Given the description of an element on the screen output the (x, y) to click on. 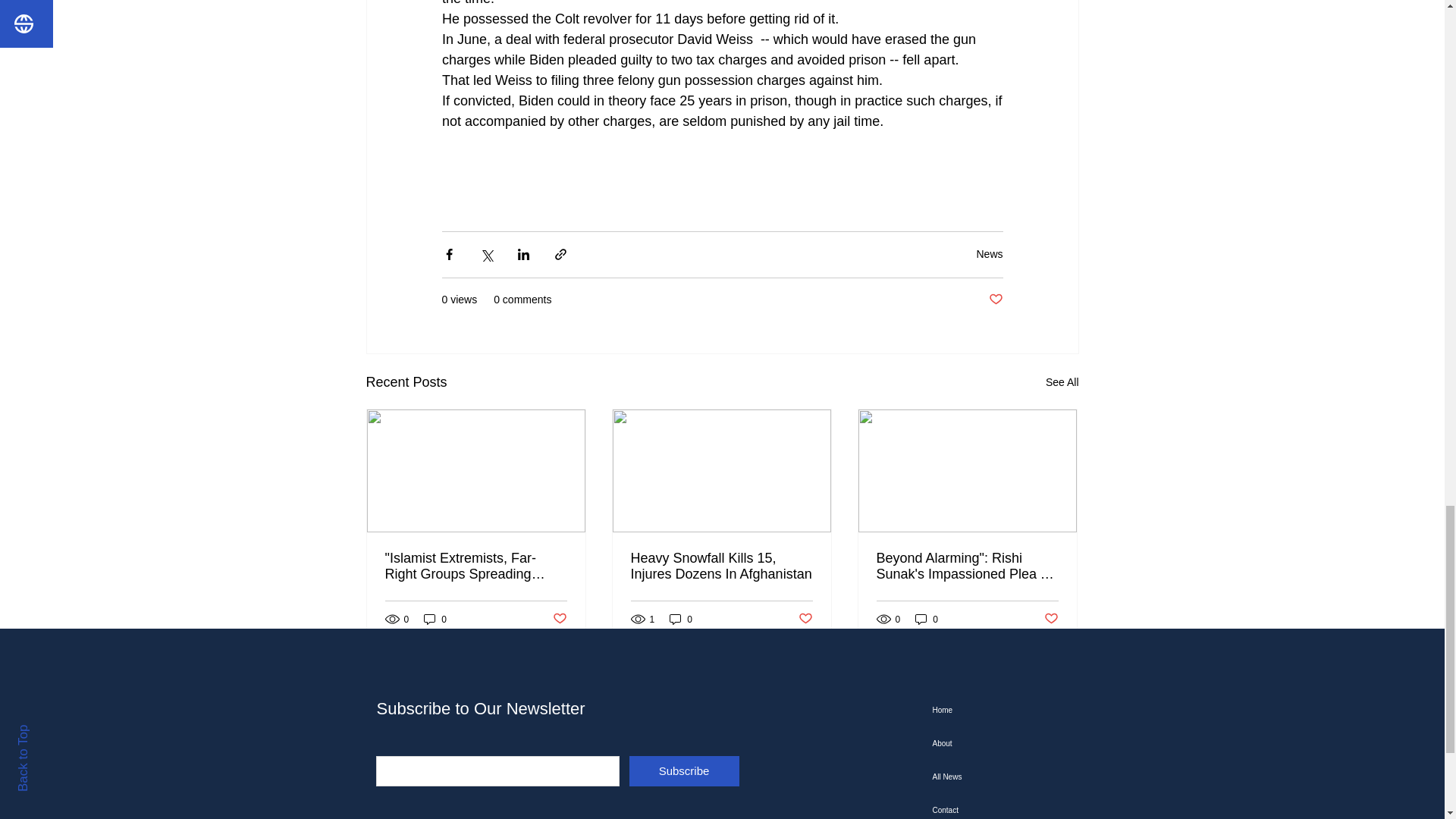
0 (435, 618)
0 (681, 618)
Heavy Snowfall Kills 15, Injures Dozens In Afghanistan (721, 566)
Post not marked as liked (995, 299)
News (989, 254)
Post not marked as liked (558, 618)
Post not marked as liked (804, 618)
See All (1061, 382)
0 (926, 618)
